Given the description of an element on the screen output the (x, y) to click on. 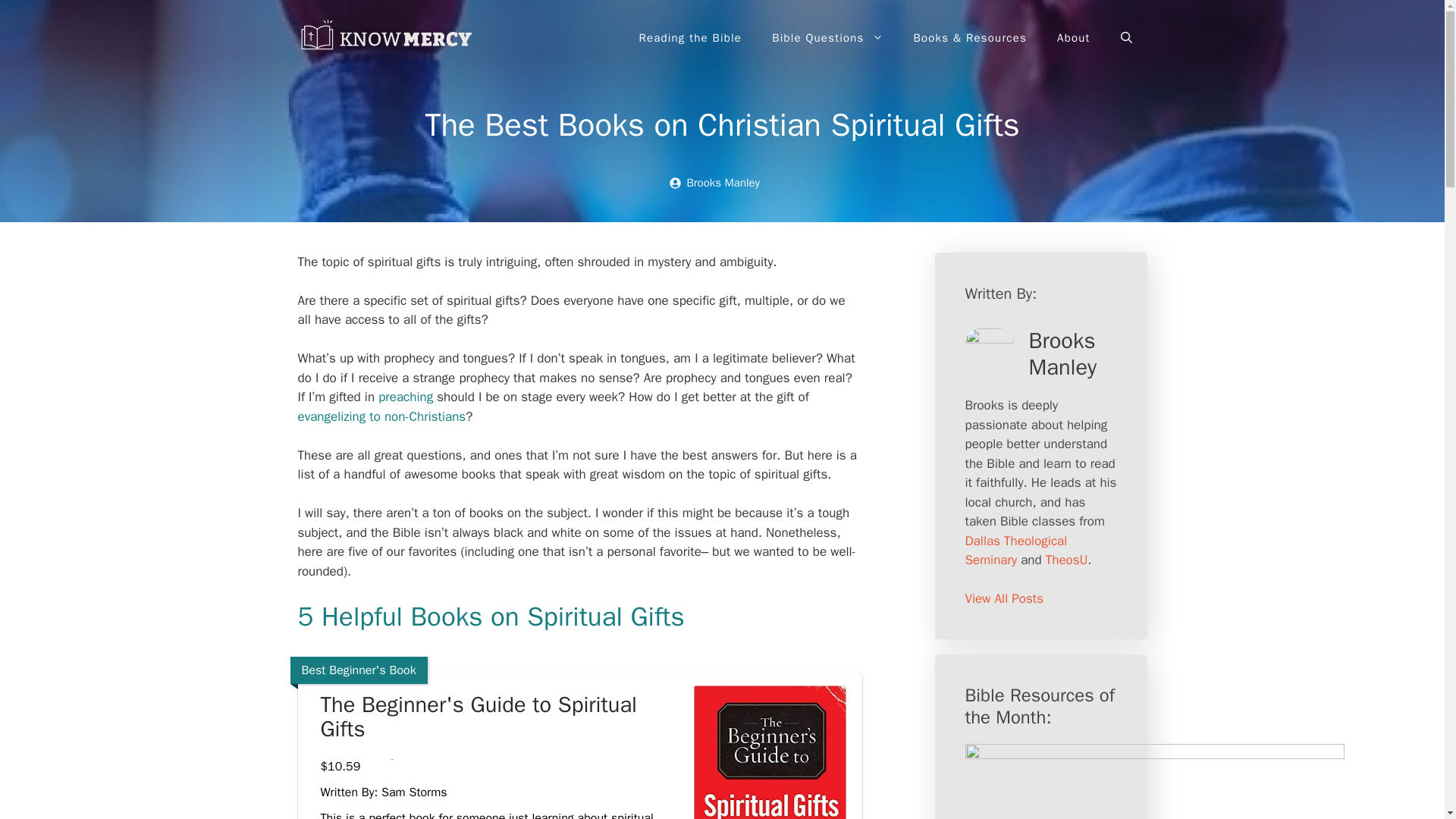
Understanding the Bible (388, 36)
Bible Questions (827, 37)
preaching (405, 396)
Reading the Bible (690, 37)
About (1073, 37)
evangelizing to non-Christians (381, 416)
The Beginner's Guide to Spiritual Gifts (499, 717)
The Beginner's Guide to Spiritual Gifts (499, 717)
Understanding the Bible (388, 37)
